Given the description of an element on the screen output the (x, y) to click on. 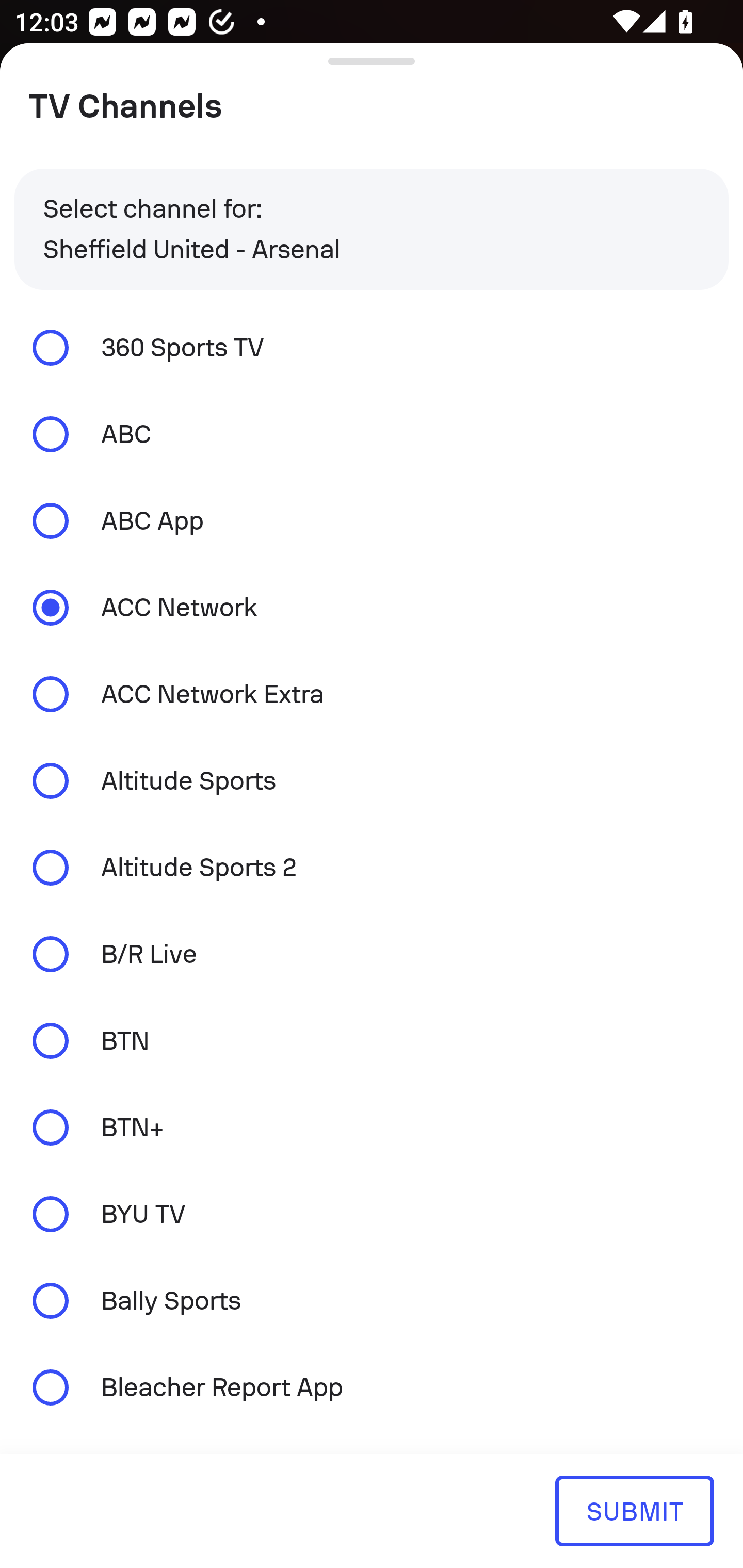
360 Sports TV (371, 347)
ABC (371, 434)
ABC App (371, 521)
ACC Network (371, 607)
ACC Network Extra (371, 693)
Altitude Sports (371, 780)
Altitude Sports 2 (371, 867)
B/R Live (371, 954)
BTN (371, 1040)
BTN+ (371, 1127)
BYU TV (371, 1214)
Bally Sports (371, 1300)
Bleacher Report App (371, 1386)
SUBMIT (634, 1510)
